Given the description of an element on the screen output the (x, y) to click on. 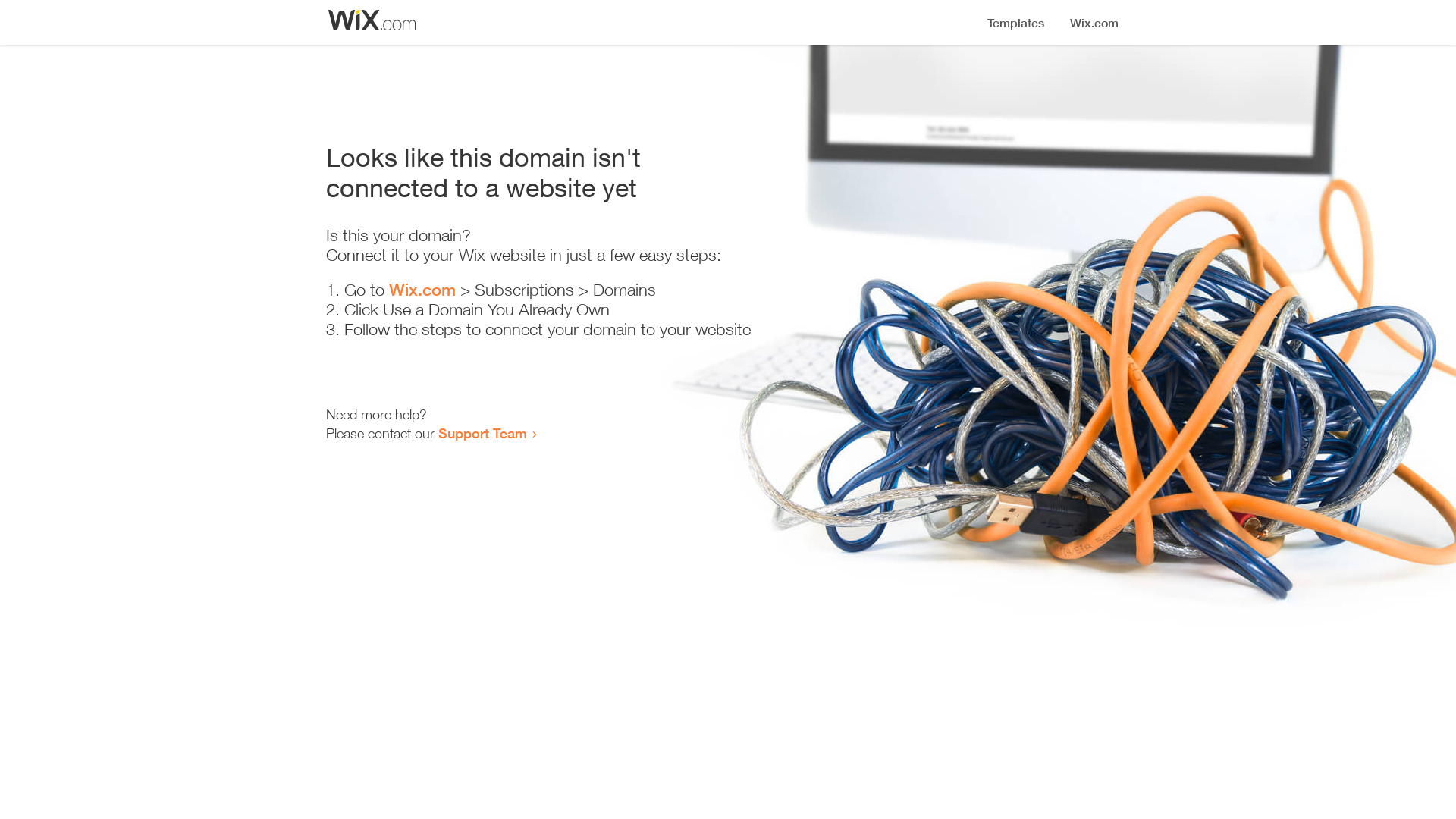
Wix.com Element type: text (422, 289)
Support Team Element type: text (482, 432)
